Given the description of an element on the screen output the (x, y) to click on. 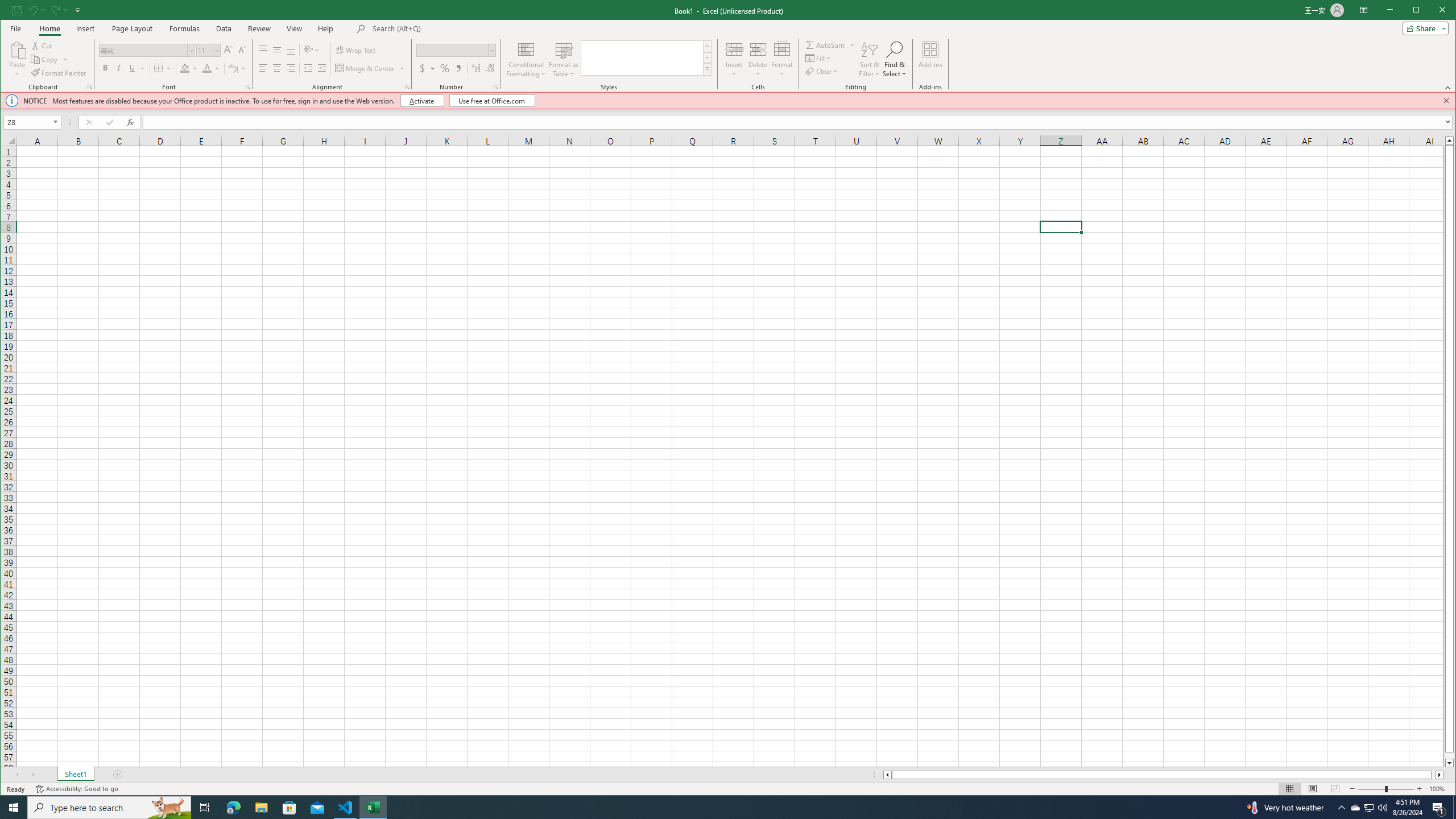
Copy (45, 59)
Increase Font Size (227, 49)
Font Color (206, 68)
Show Phonetic Field (237, 68)
Format as Table (563, 59)
Excel - 1 running window (373, 807)
Align Left (263, 68)
Italic (118, 68)
Running applications (717, 807)
Decrease Font Size (241, 49)
Conditional Formatting (526, 59)
